Given the description of an element on the screen output the (x, y) to click on. 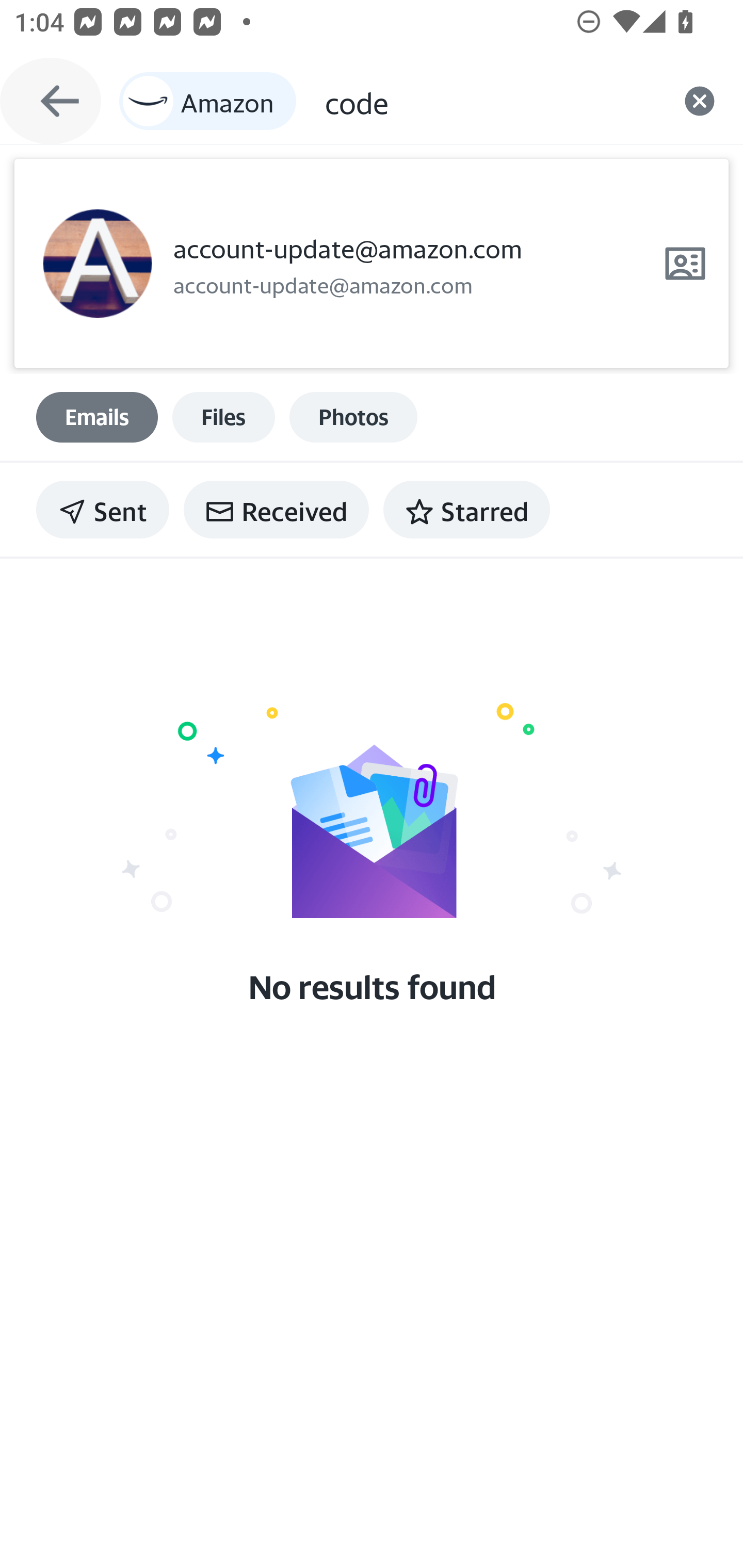
Back (50, 101)
code (490, 101)
Clear (699, 101)
Profile (97, 264)
Emails (96, 417)
Files (223, 417)
Photos (353, 417)
Sent (102, 509)
Received (276, 509)
Starred (466, 509)
